Given the description of an element on the screen output the (x, y) to click on. 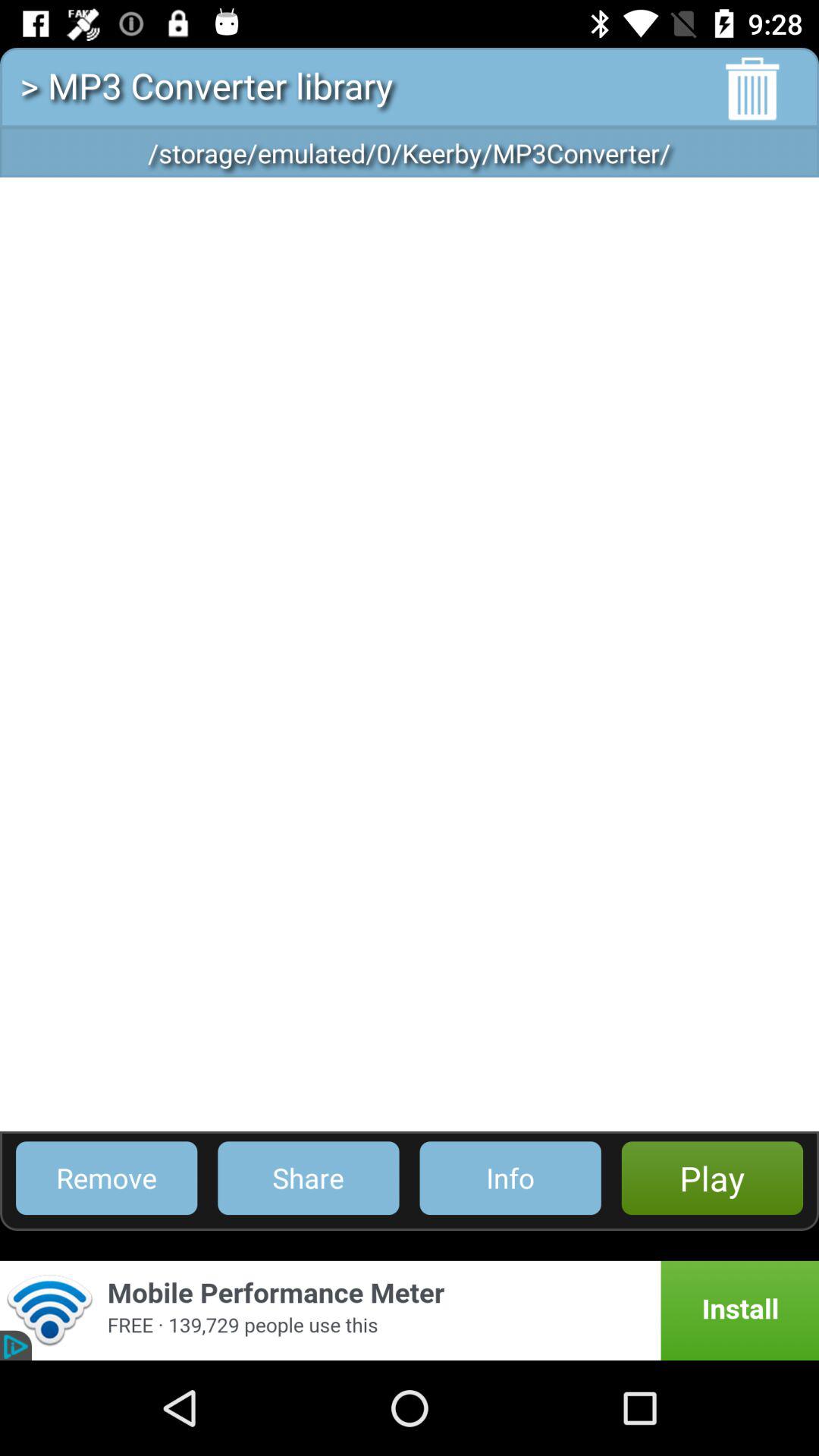
turn off the remove item (106, 1177)
